Given the description of an element on the screen output the (x, y) to click on. 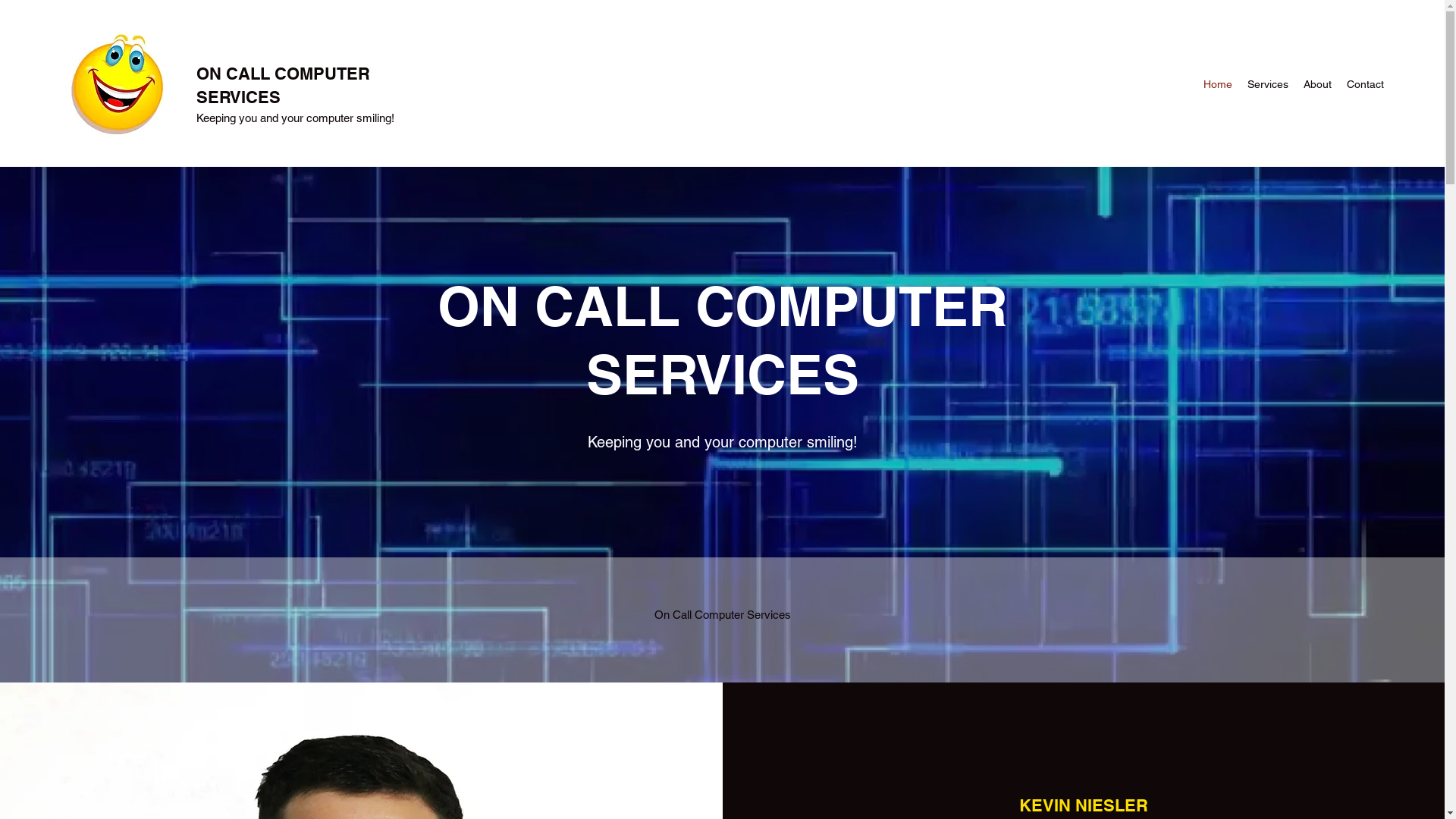
ON CALL COMPUTER SERVICES Element type: text (283, 84)
On Call Computer Services Element type: text (722, 614)
Contact Element type: text (1365, 83)
About Element type: text (1317, 83)
Home Element type: text (1217, 83)
Services Element type: text (1267, 83)
